Given the description of an element on the screen output the (x, y) to click on. 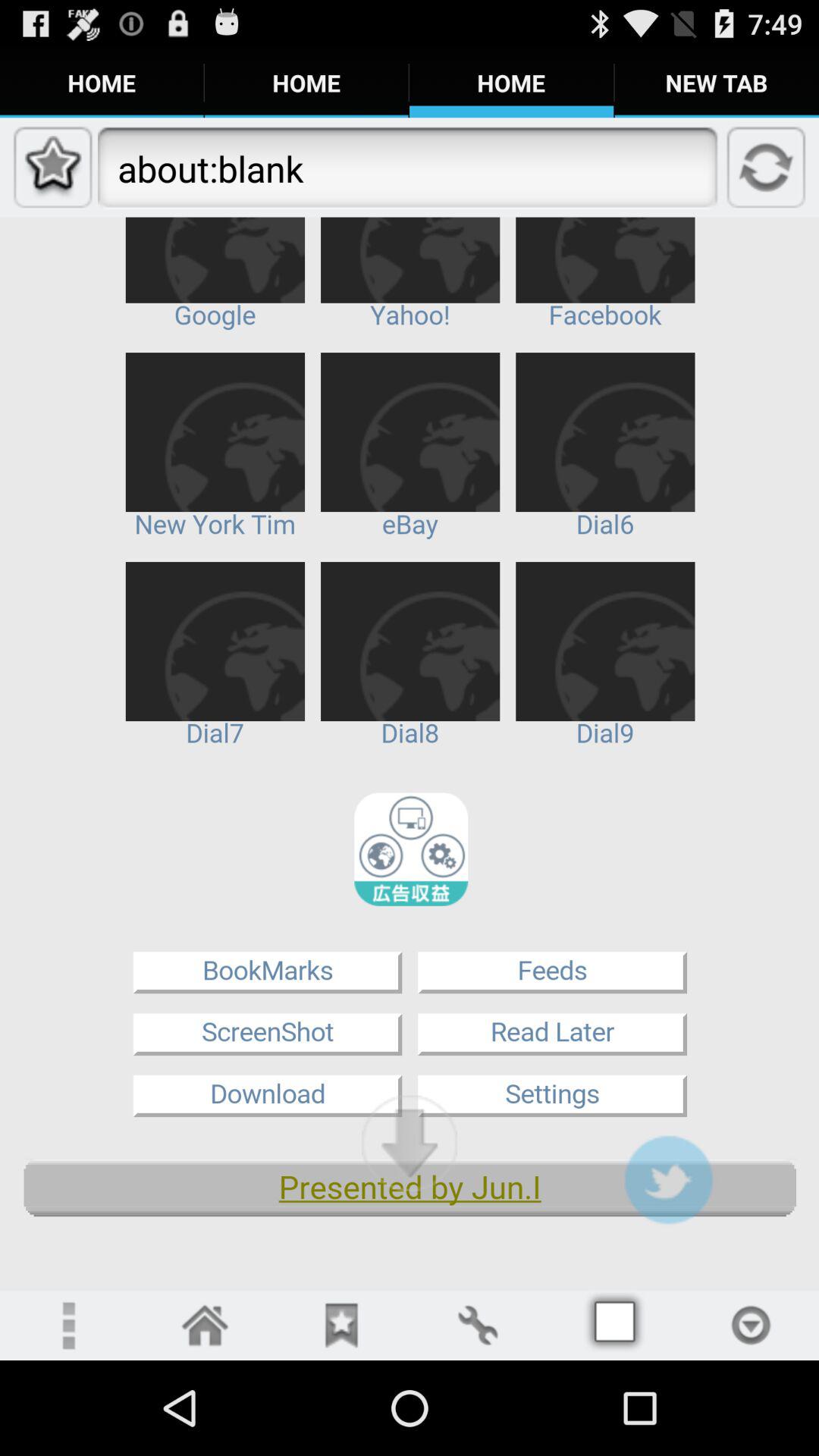
switch to bookmark (341, 1325)
